Given the description of an element on the screen output the (x, y) to click on. 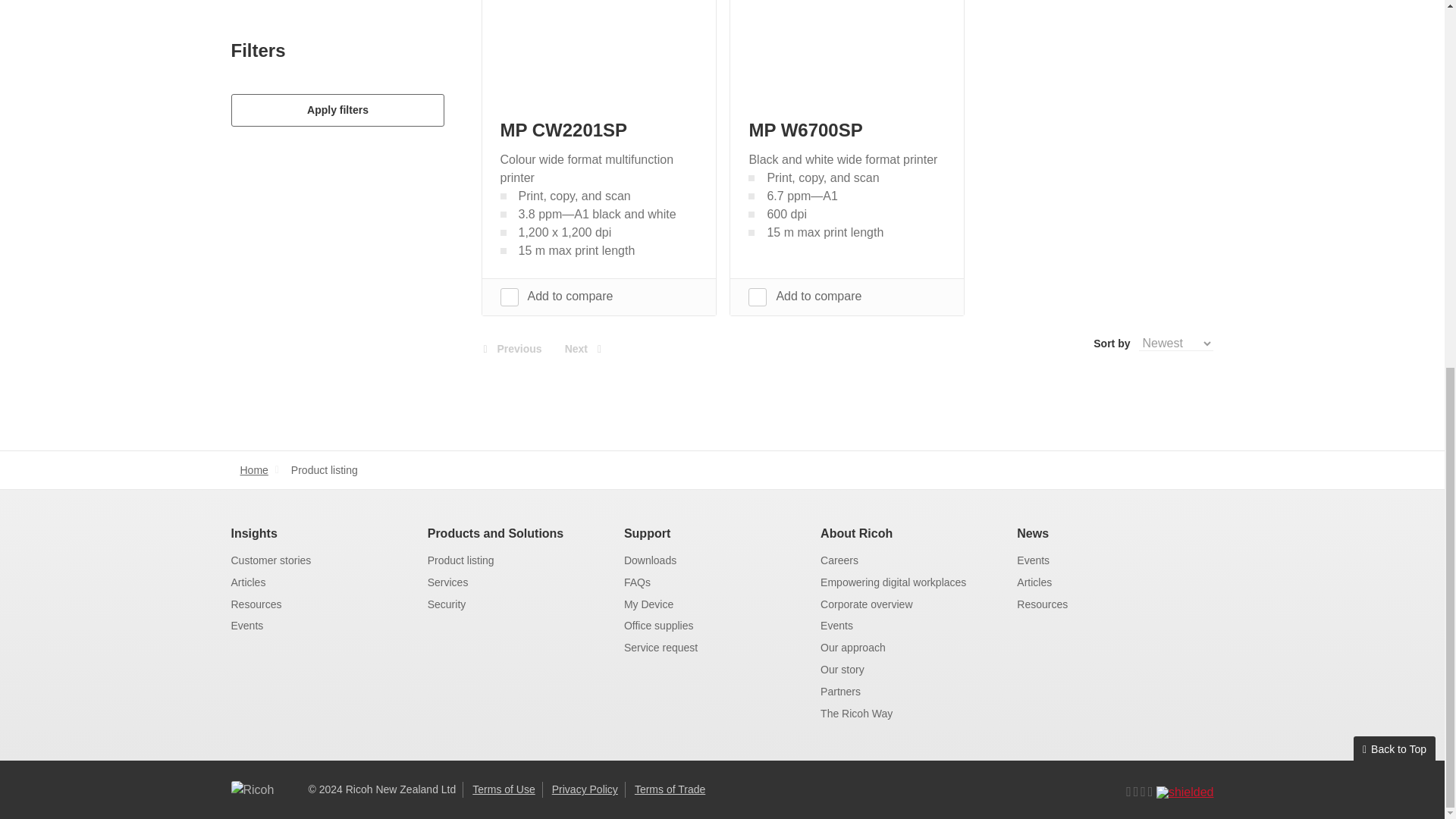
on (756, 297)
Next (580, 348)
Product listing (324, 469)
Previous (515, 348)
on (508, 297)
